Given the description of an element on the screen output the (x, y) to click on. 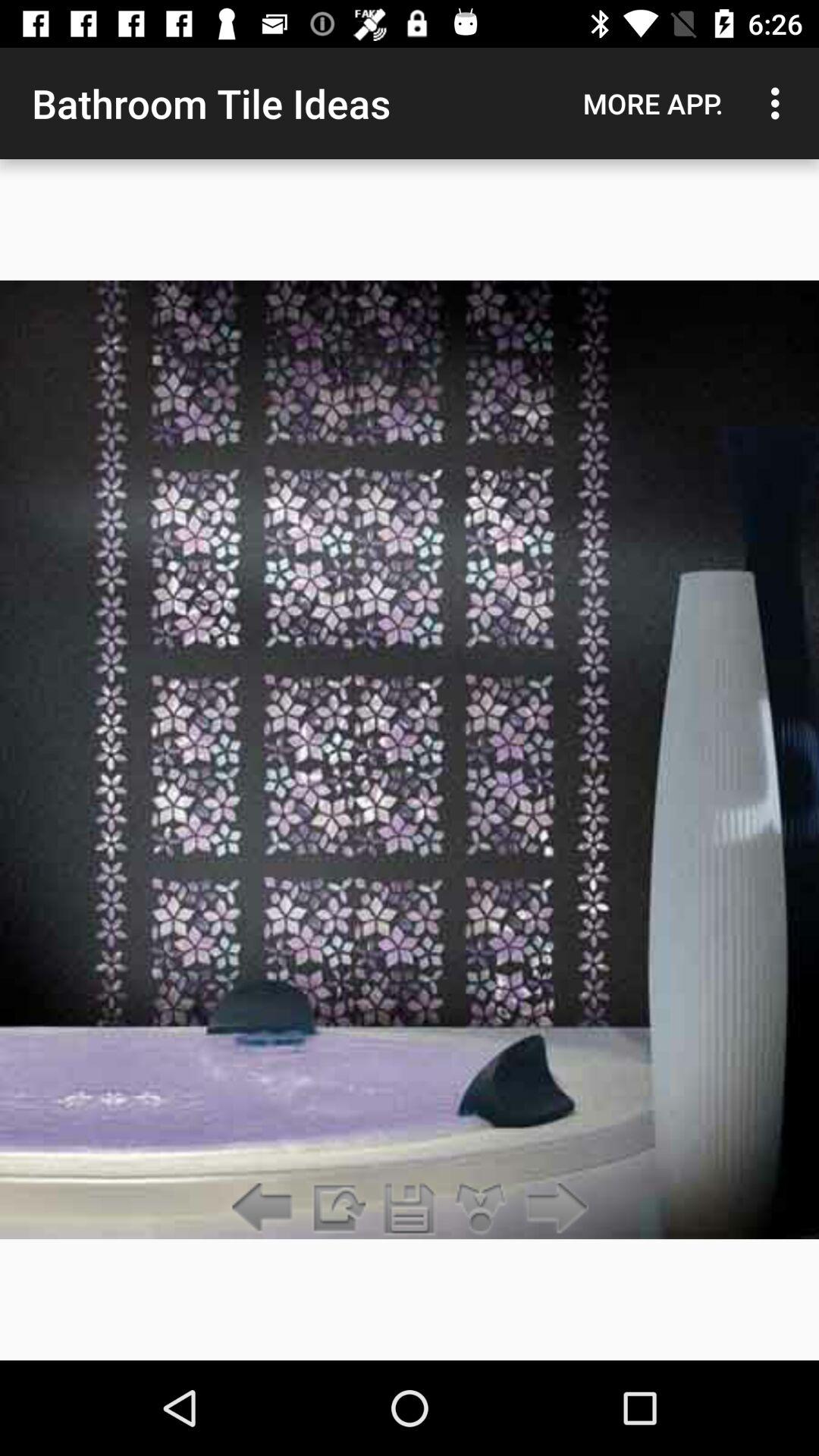
split (480, 1208)
